Given the description of an element on the screen output the (x, y) to click on. 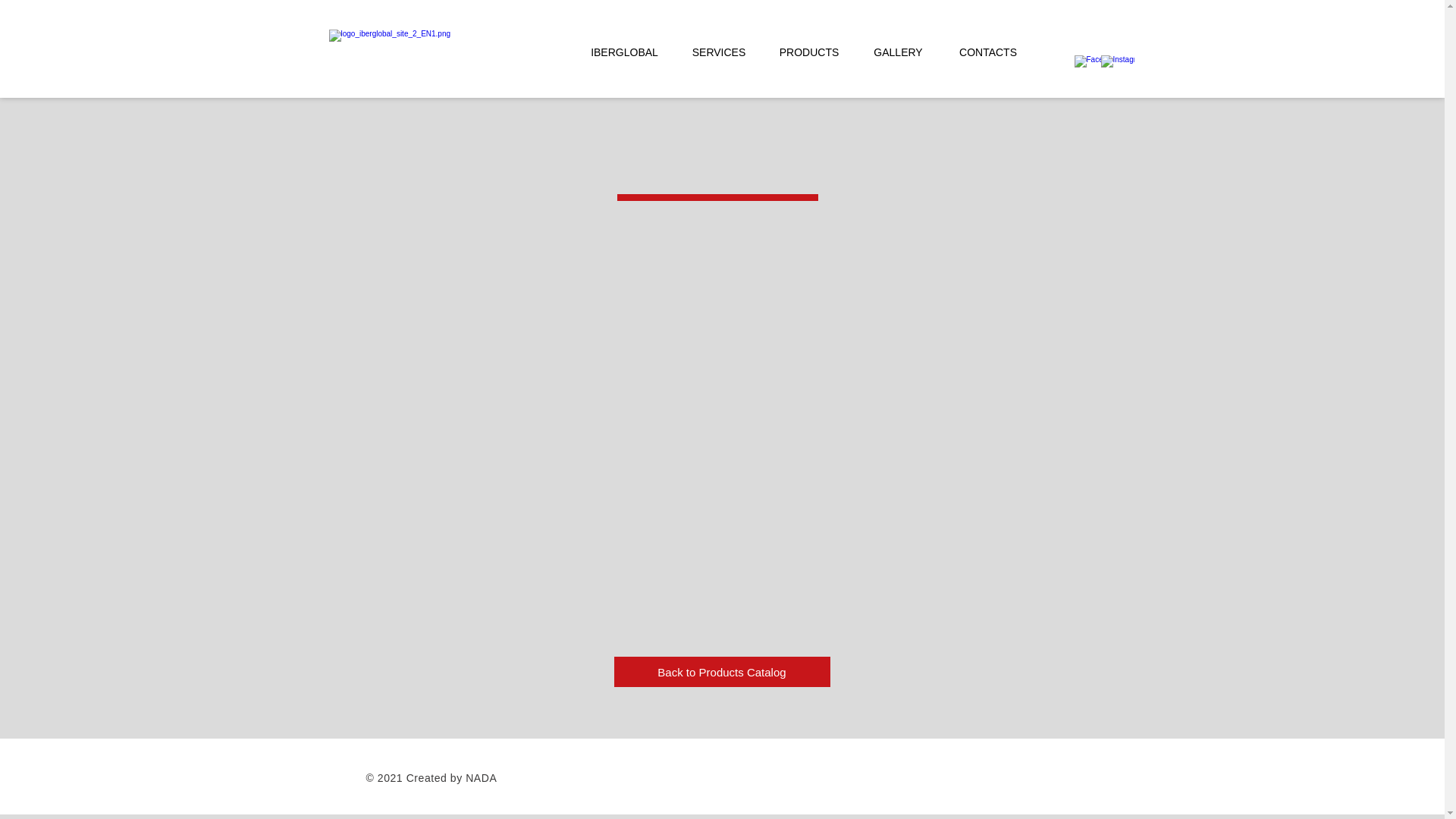
Back to Products Catalog (721, 671)
IBERGLOBAL (625, 52)
GALLERY (898, 52)
SERVICES (719, 52)
CONTACTS (988, 52)
PRODUCTS (808, 52)
